Given the description of an element on the screen output the (x, y) to click on. 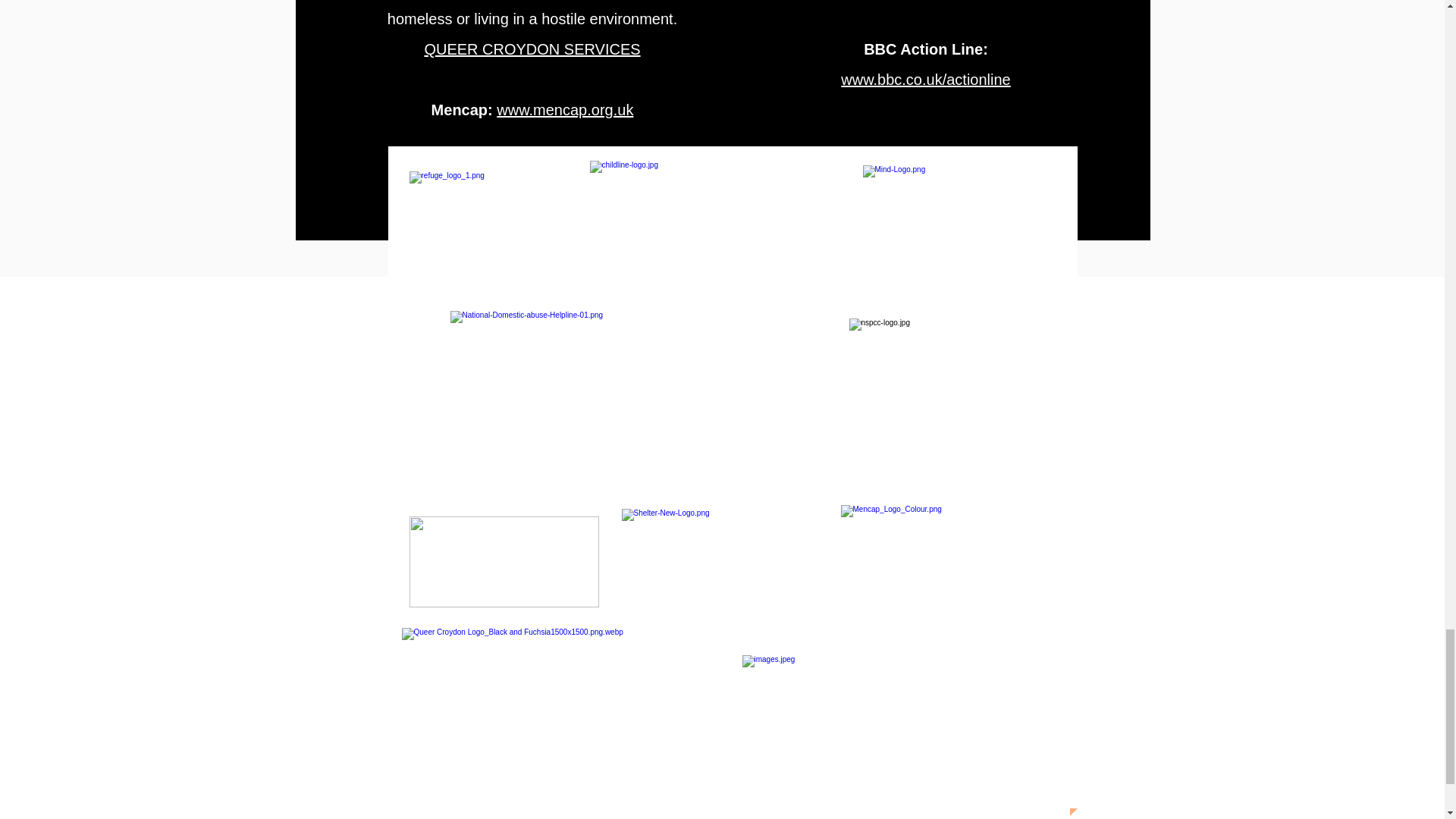
Crisis-logo.png (503, 561)
QUEER CROYDON SERVICES (531, 48)
www.mencap.org.uk (564, 109)
